Given the description of an element on the screen output the (x, y) to click on. 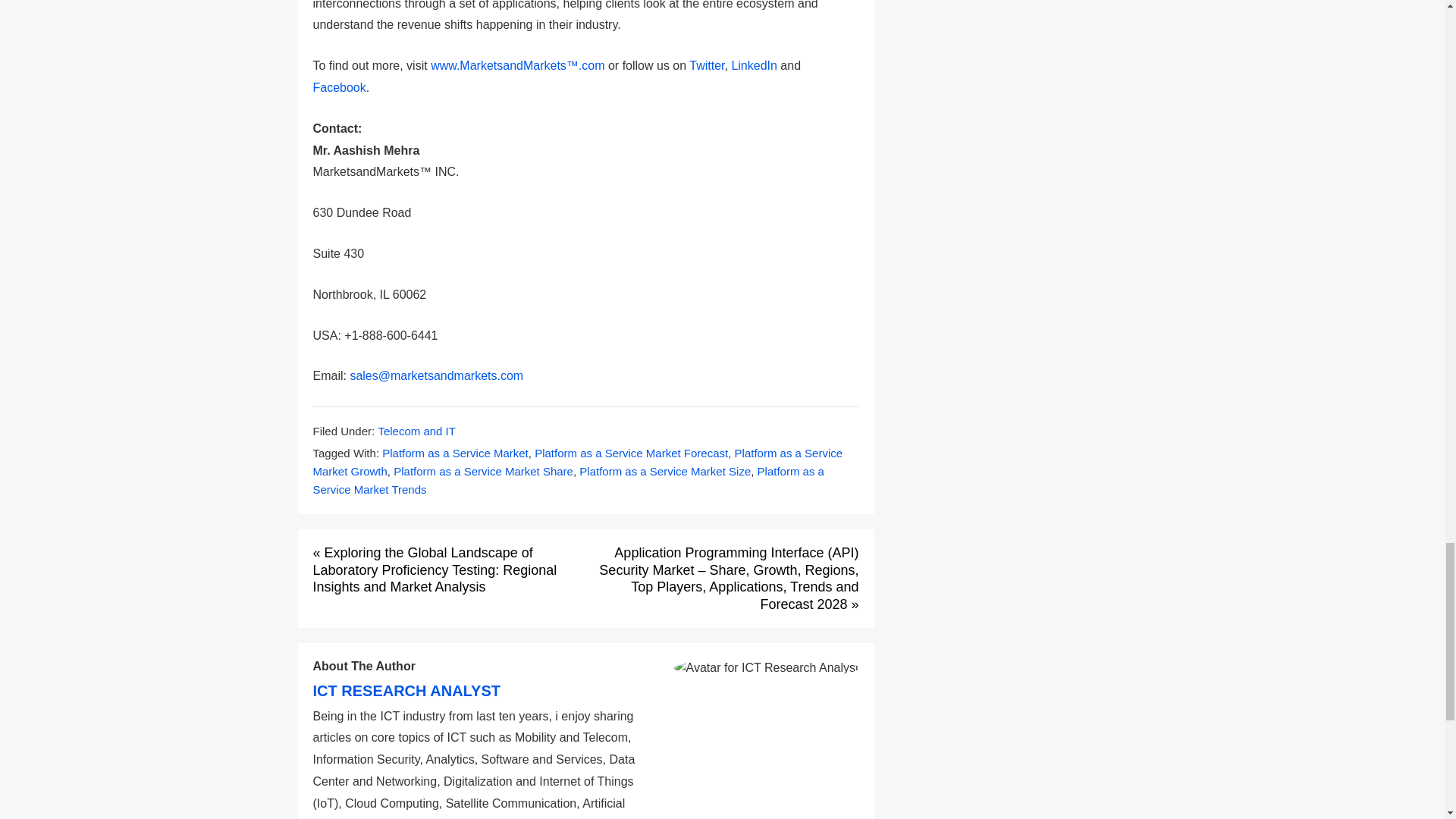
Gravatar for ICT Research Analyst (766, 668)
